Given the description of an element on the screen output the (x, y) to click on. 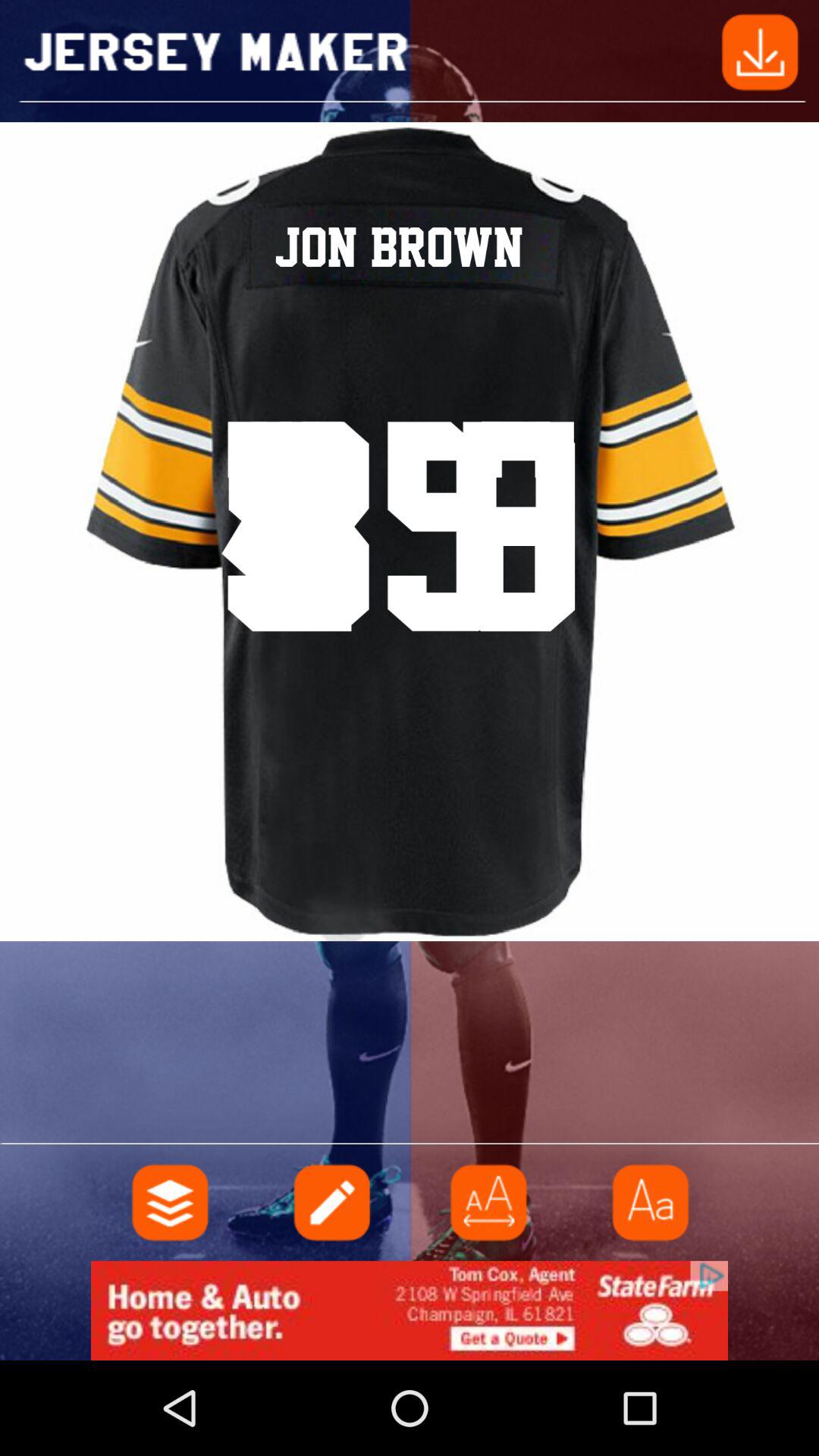
download (759, 50)
